Given the description of an element on the screen output the (x, y) to click on. 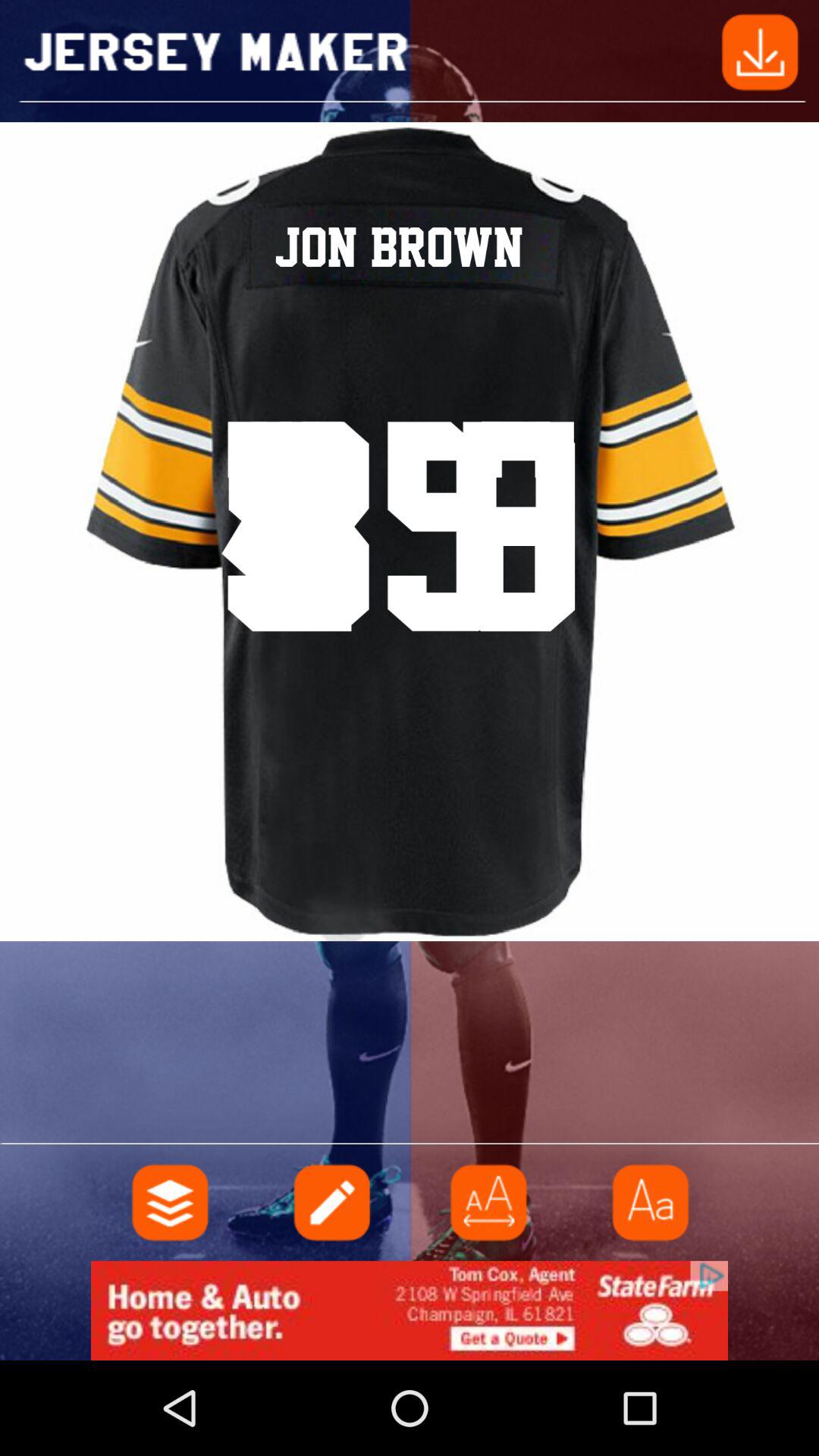
download (759, 50)
